Given the description of an element on the screen output the (x, y) to click on. 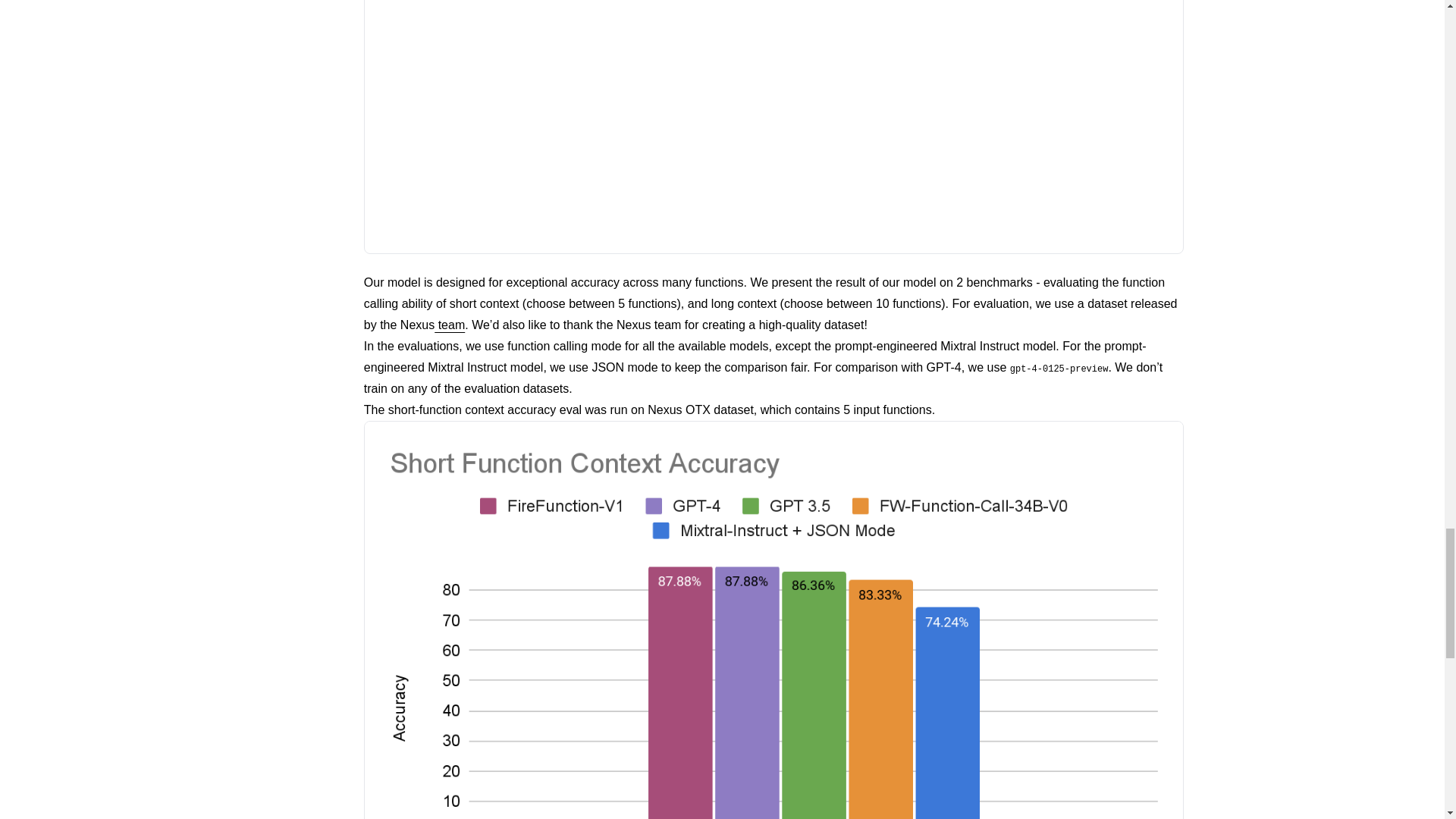
team (448, 324)
